Given the description of an element on the screen output the (x, y) to click on. 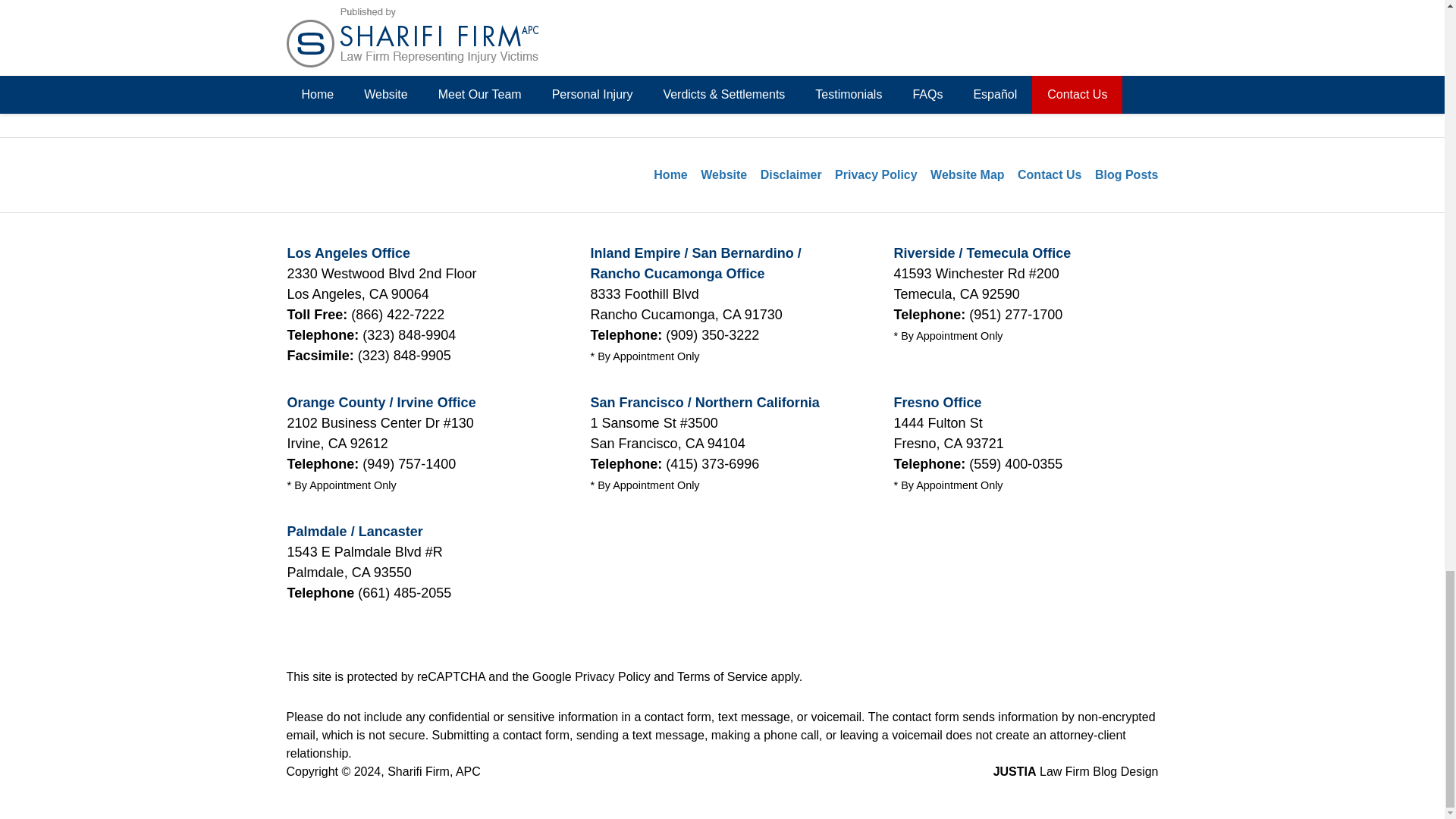
Home (388, 91)
Workers' Compensation (397, 5)
View all posts in Workers' Compensation (397, 5)
